Given the description of an element on the screen output the (x, y) to click on. 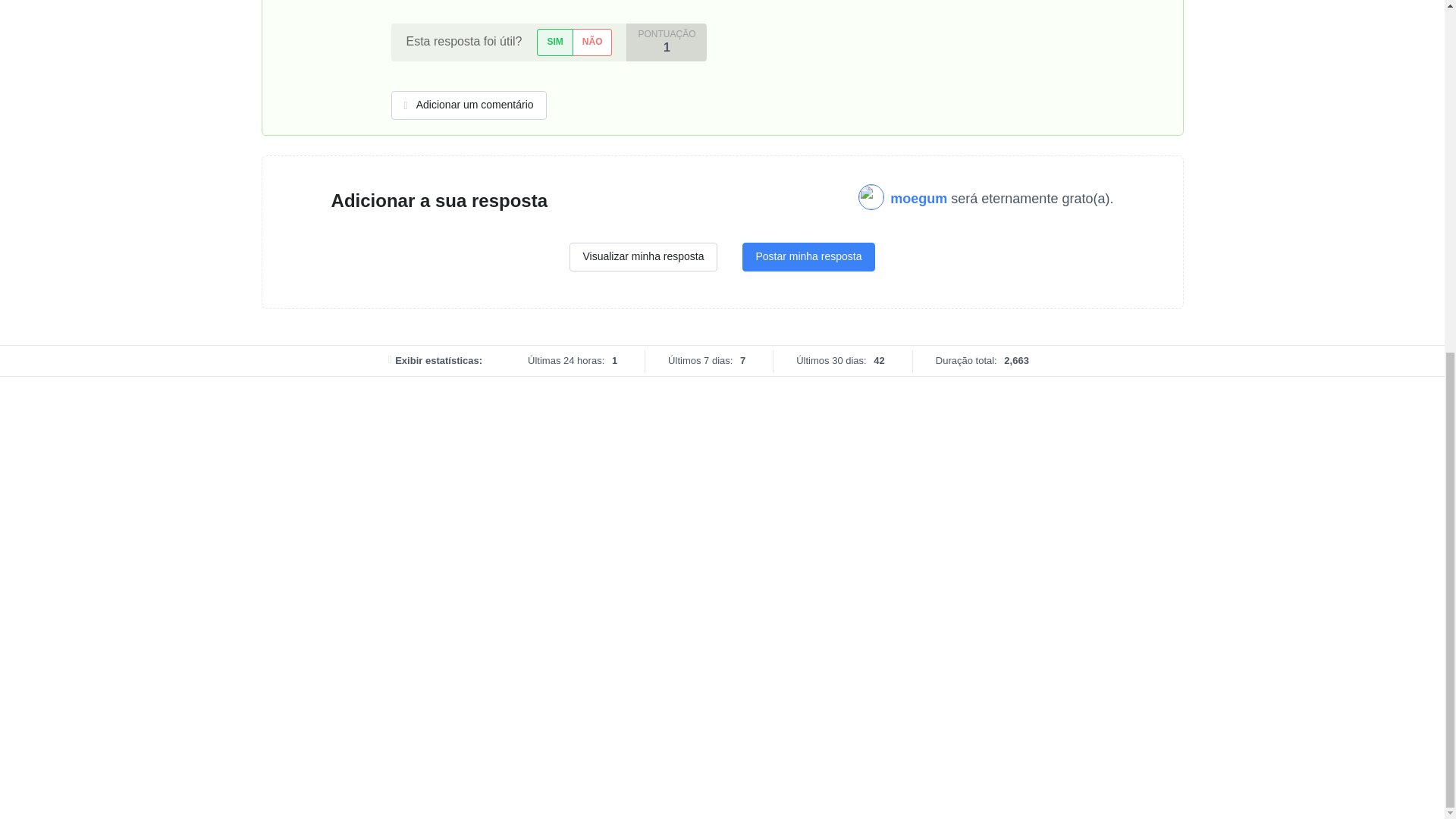
SIM (554, 41)
